Given the description of an element on the screen output the (x, y) to click on. 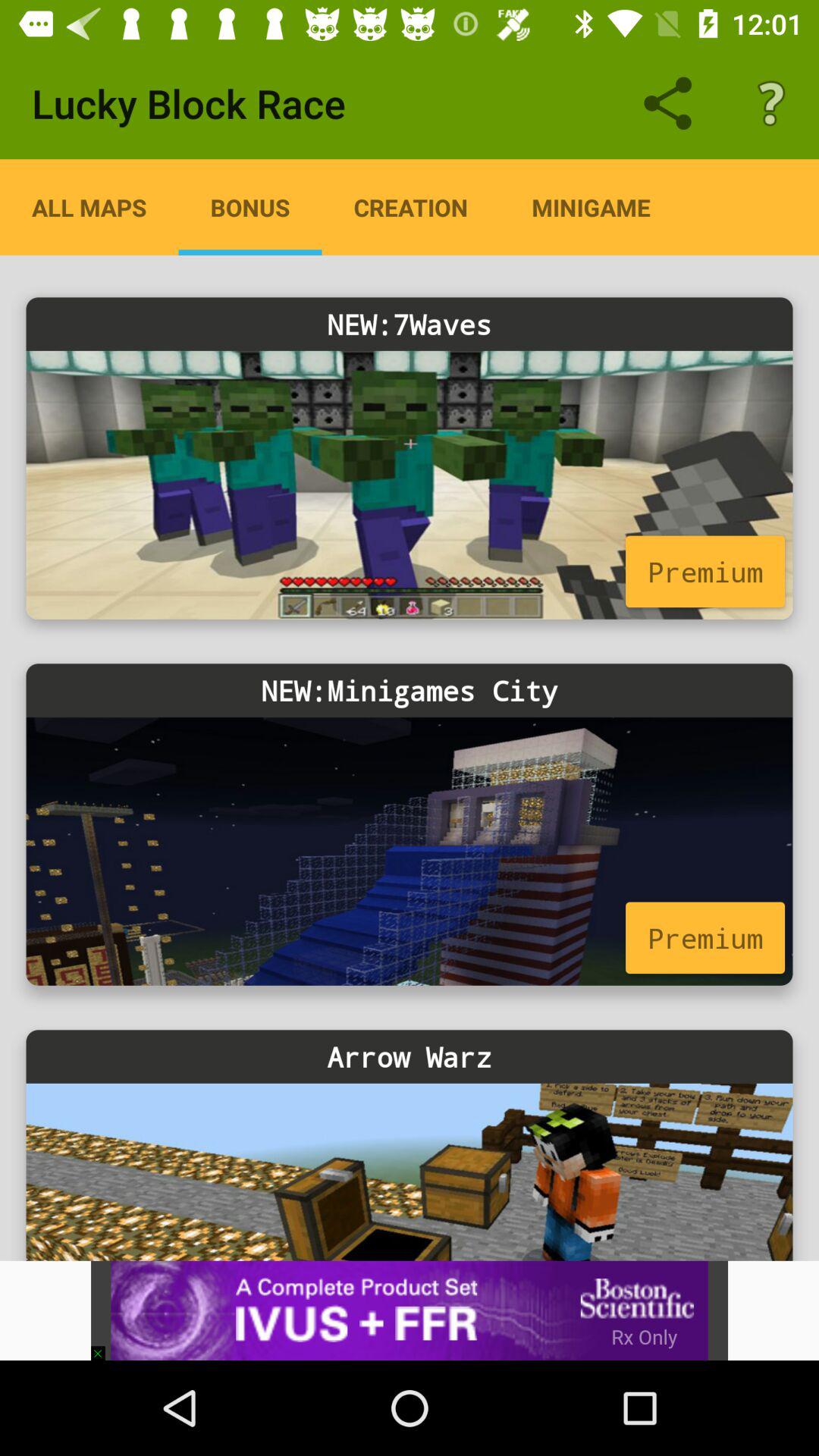
click item above the new:7waves item (410, 207)
